Given the description of an element on the screen output the (x, y) to click on. 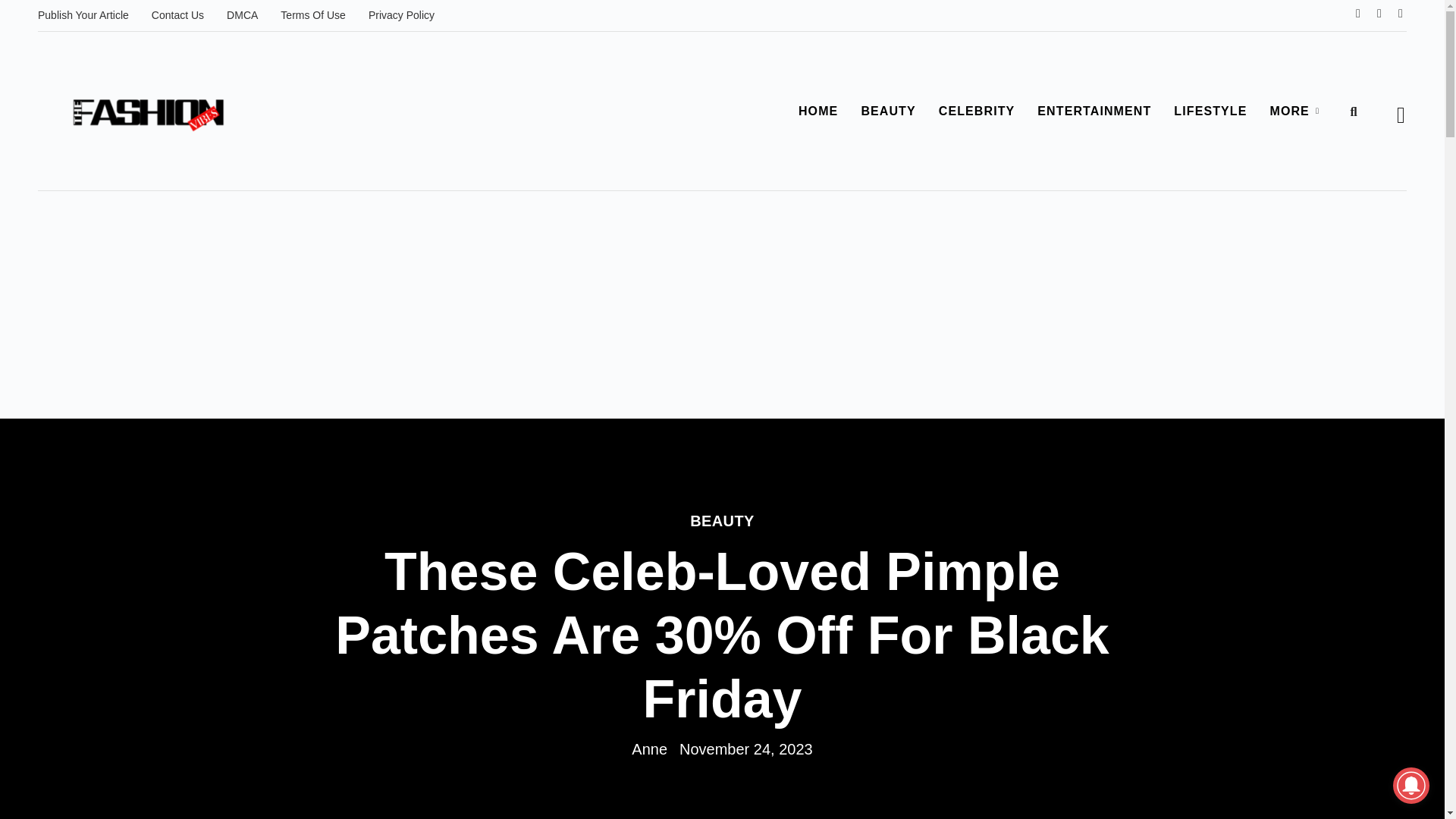
BEAUTY (887, 110)
BEAUTY (722, 520)
Terms Of Use (312, 15)
ENTERTAINMENT (1093, 110)
CELEBRITY (976, 110)
Publish Your Article (82, 15)
DMCA (242, 15)
MORE (1296, 110)
Privacy Policy (400, 15)
November 24, 2023 (745, 749)
Anne (648, 749)
LIFESTYLE (1209, 110)
Contact Us (177, 15)
